Given the description of an element on the screen output the (x, y) to click on. 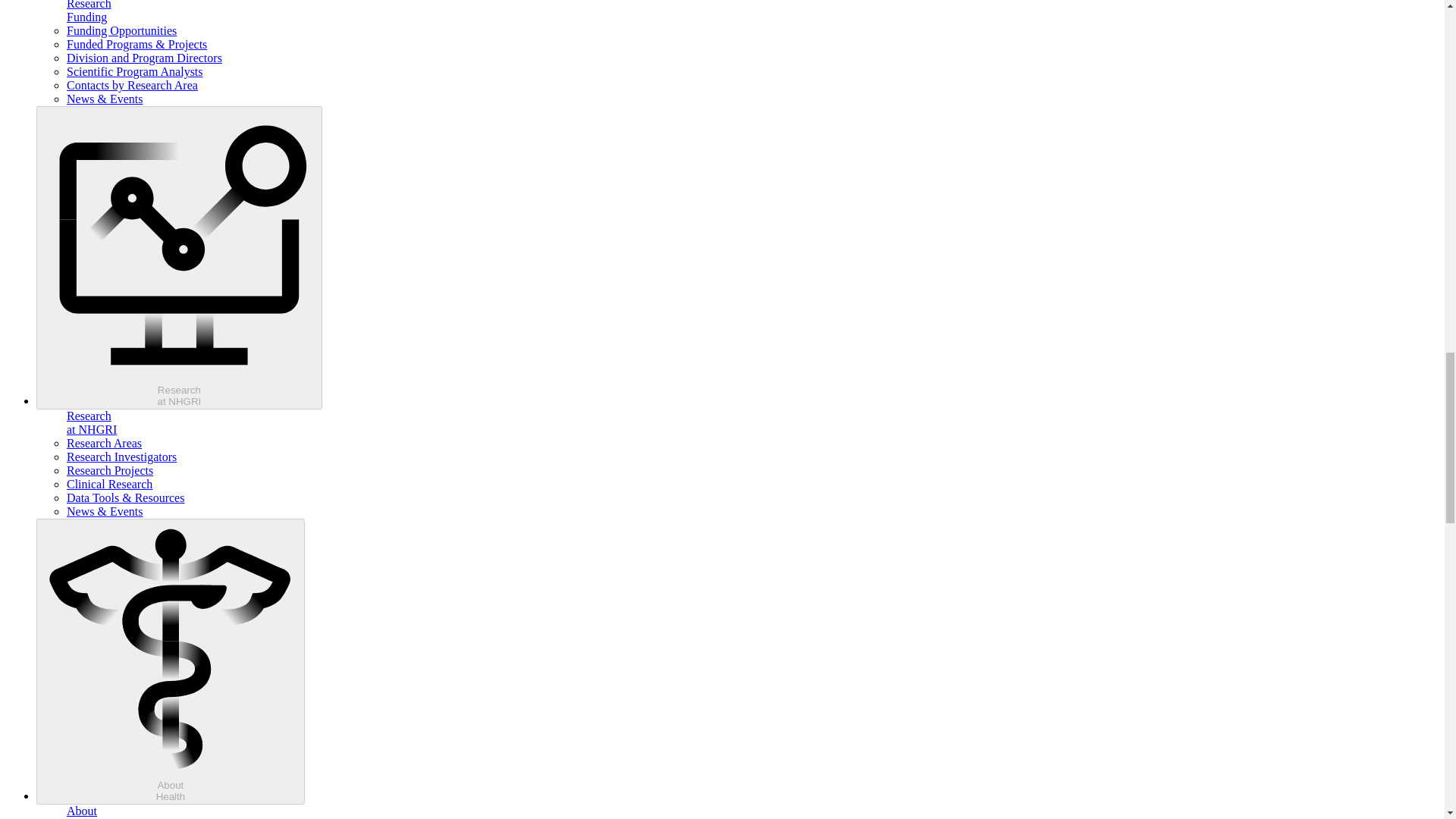
Research Areas (103, 442)
Research Projects (178, 257)
Division and Program Directors (109, 470)
Research Investigators (144, 57)
Clinical Research (121, 456)
Scientific Program Analysts (109, 483)
Funding Opportunities (134, 71)
Contacts by Research Area (170, 661)
